Given the description of an element on the screen output the (x, y) to click on. 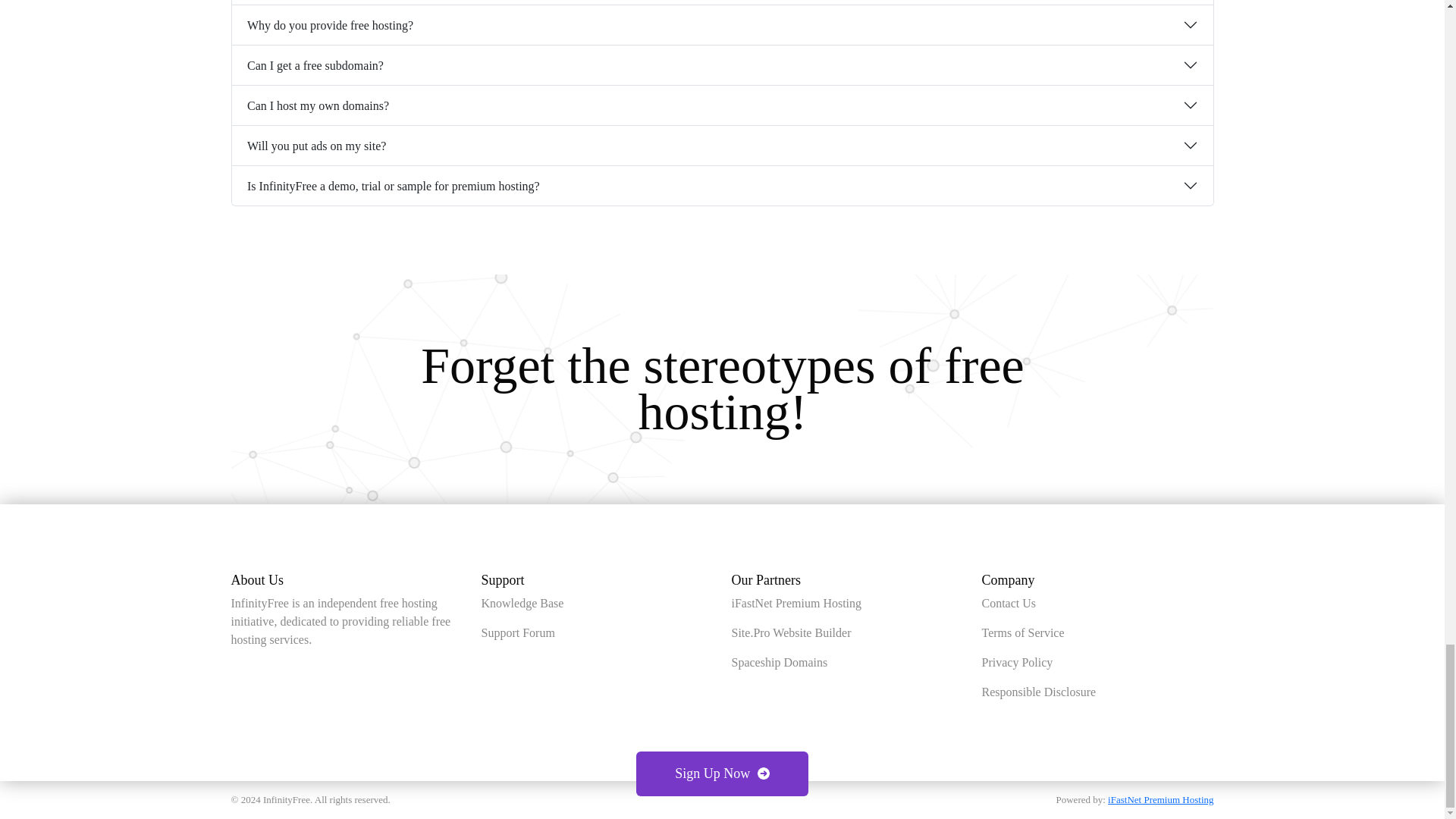
Can I host my own domains? (721, 105)
Why do you provide free hosting? (721, 24)
Is InfinityFree a demo, trial or sample for premium hosting? (721, 185)
Sign Up Now (722, 773)
Spaceship Domains (778, 662)
Knowledge Base (521, 603)
Privacy Policy (1016, 662)
Terms of Service (1022, 632)
Responsible Disclosure (1038, 691)
